Given the description of an element on the screen output the (x, y) to click on. 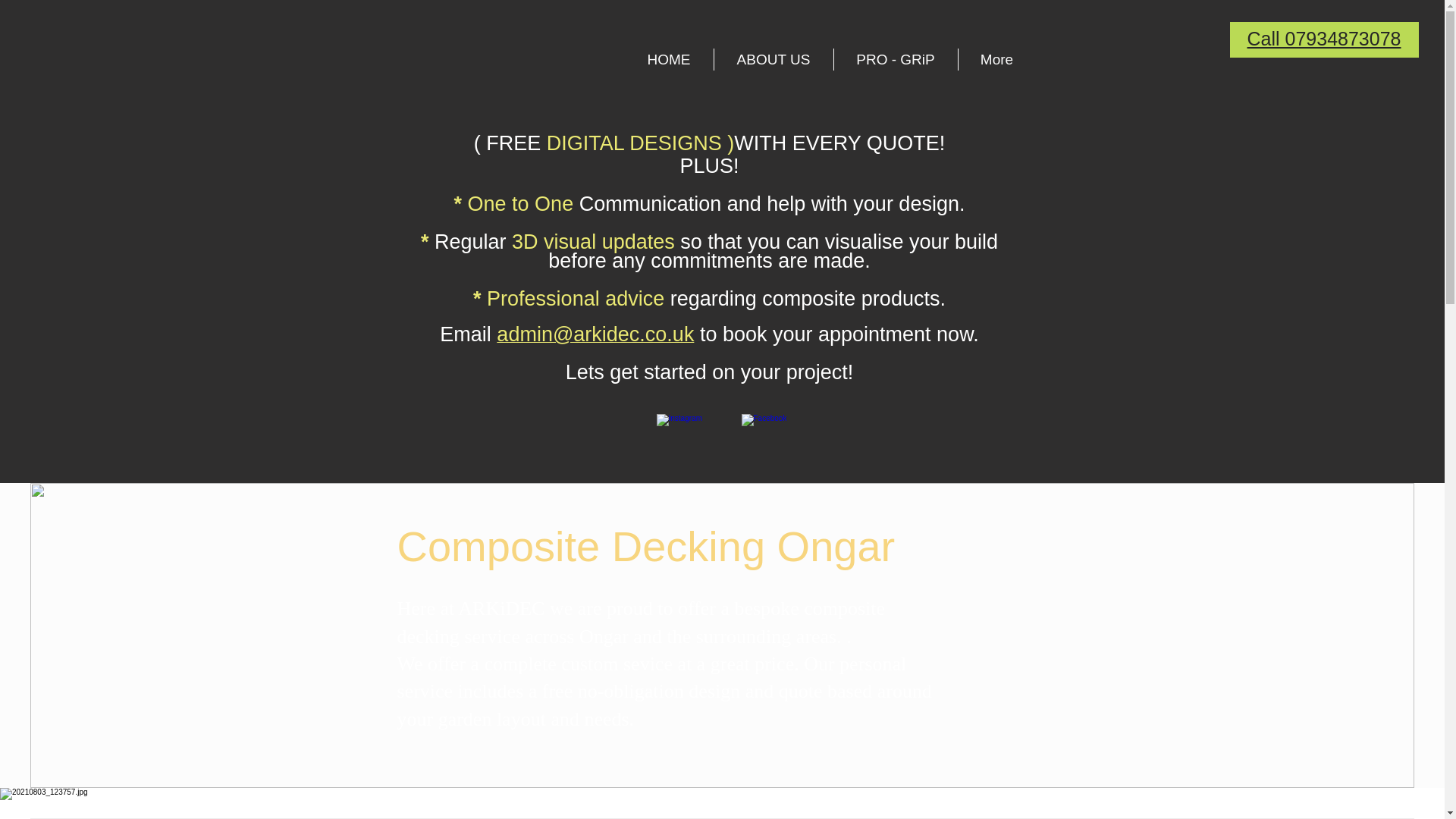
PRO - GRiP (896, 59)
Call 07934873078 (1323, 38)
ABOUT US (773, 59)
HOME (668, 59)
